Given the description of an element on the screen output the (x, y) to click on. 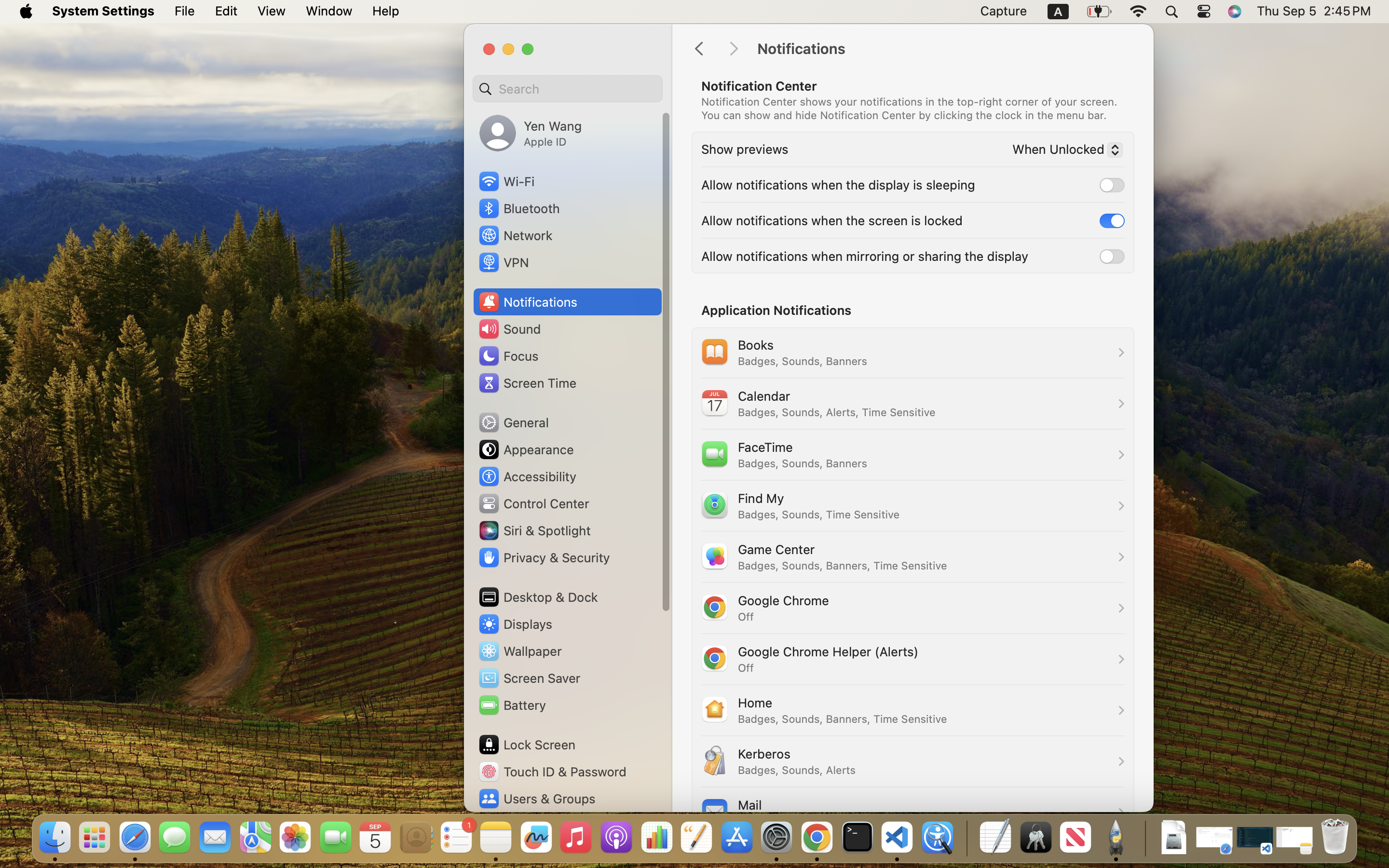
Appearance Element type: AXStaticText (525, 449)
Touch ID & Password Element type: AXStaticText (551, 771)
Displays Element type: AXStaticText (514, 623)
Accessibility Element type: AXStaticText (526, 476)
